Given the description of an element on the screen output the (x, y) to click on. 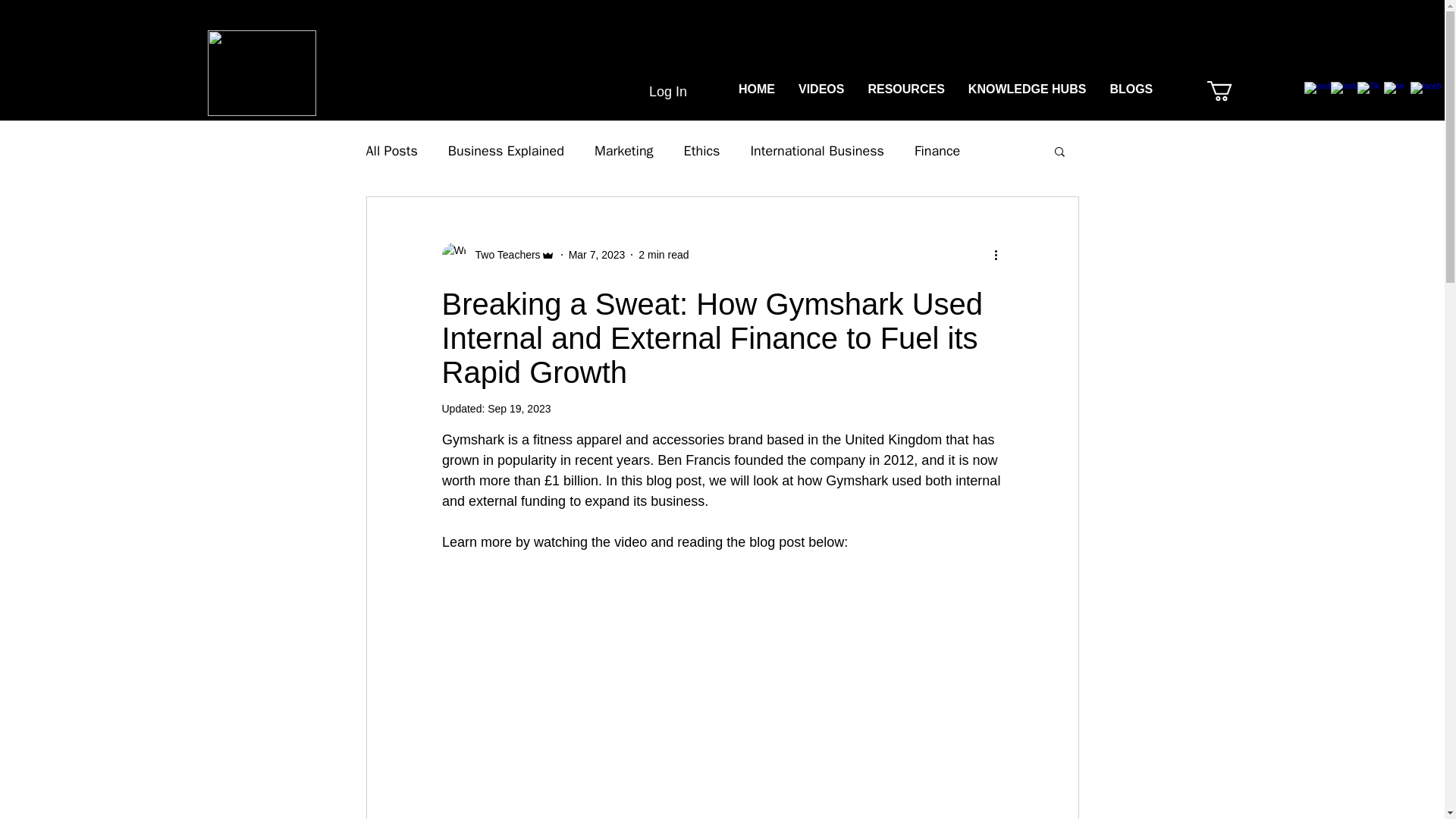
International Business (816, 150)
Log In (652, 92)
Copy of Edexcel GCSE Topic 2.2 (1269, 91)
HOME (756, 91)
2 min read (663, 254)
Business Explained (506, 150)
BLOGS (1130, 91)
Two Teachers (502, 254)
KNOWLEDGE HUBS (1026, 91)
Two Teachers (497, 254)
Mar 7, 2023 (597, 254)
Sep 19, 2023 (518, 408)
RESOURCES (905, 91)
All Posts (390, 150)
Marketing (623, 150)
